Given the description of an element on the screen output the (x, y) to click on. 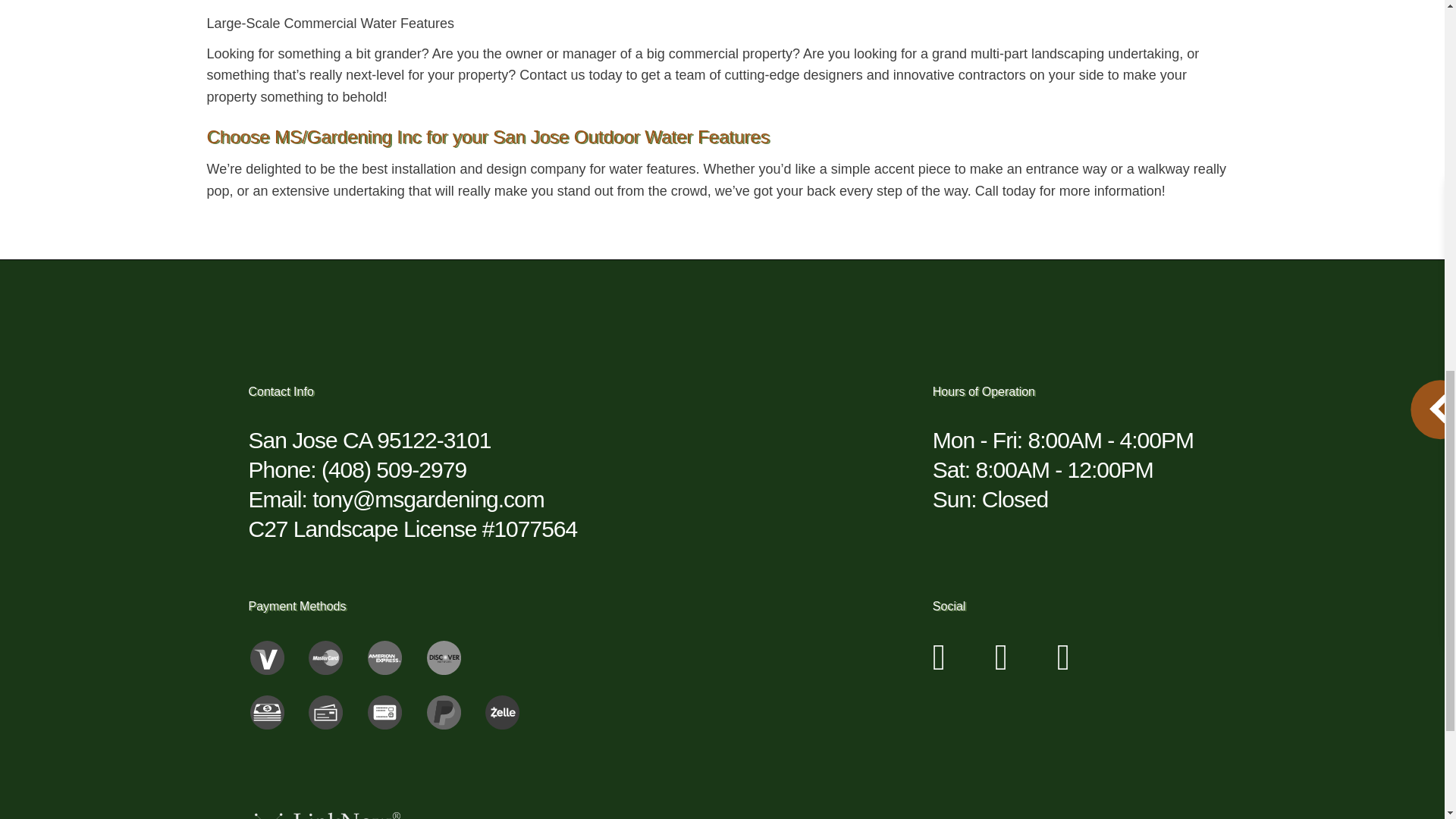
Google Maps (1063, 665)
Instagram (939, 665)
Facebook (1001, 665)
